Given the description of an element on the screen output the (x, y) to click on. 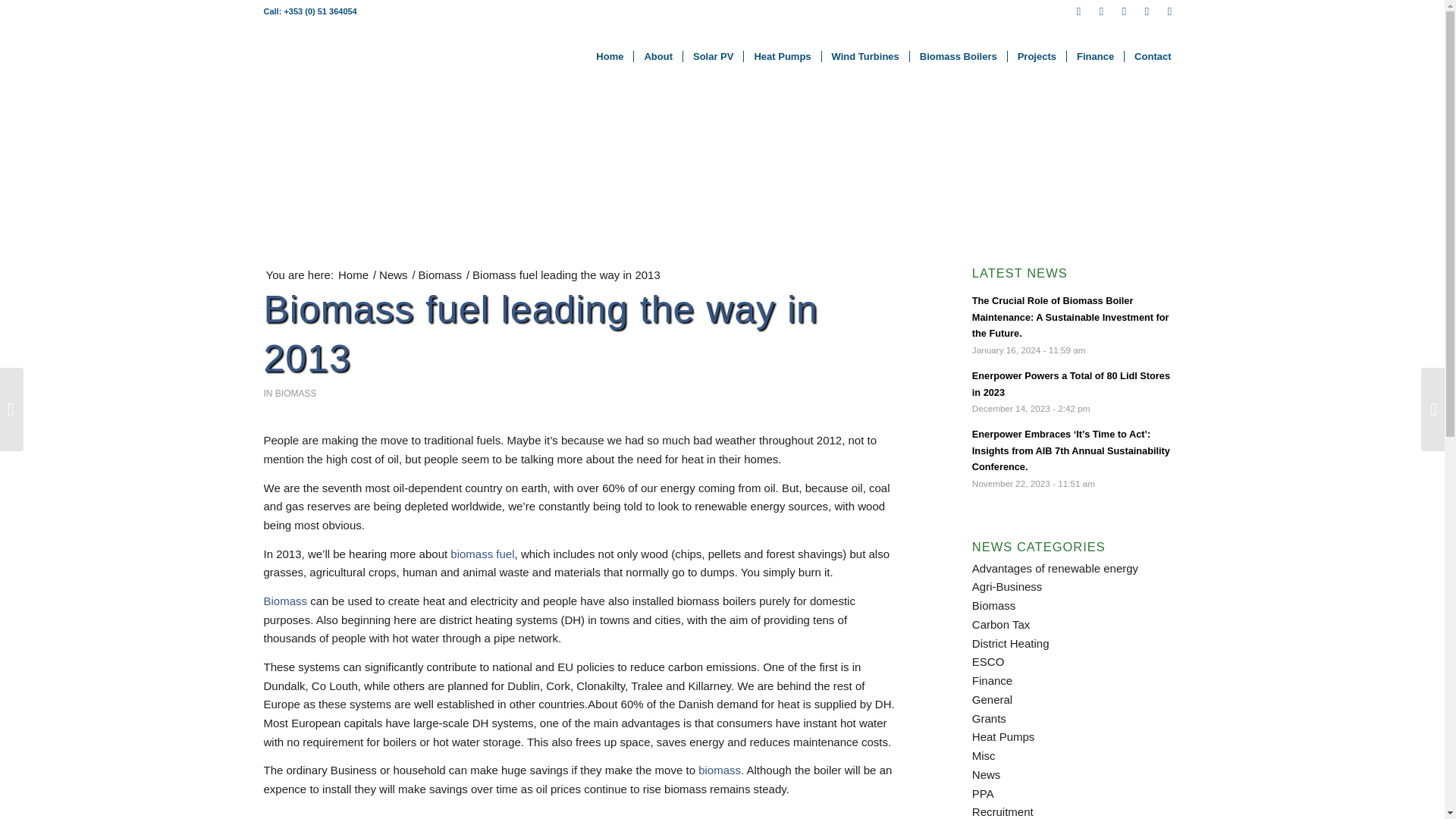
Biomass Boilers (957, 56)
Finance (1094, 56)
Biomass (440, 275)
Instagram (1146, 11)
News (393, 275)
About (657, 56)
Enerpower (353, 275)
News (393, 275)
Solar PV (712, 56)
Facebook (1078, 11)
Biomass fuel leading the way in 2013 (540, 334)
Wind Turbines (864, 56)
Twitter (1101, 11)
Home (353, 275)
Home (609, 56)
